Given the description of an element on the screen output the (x, y) to click on. 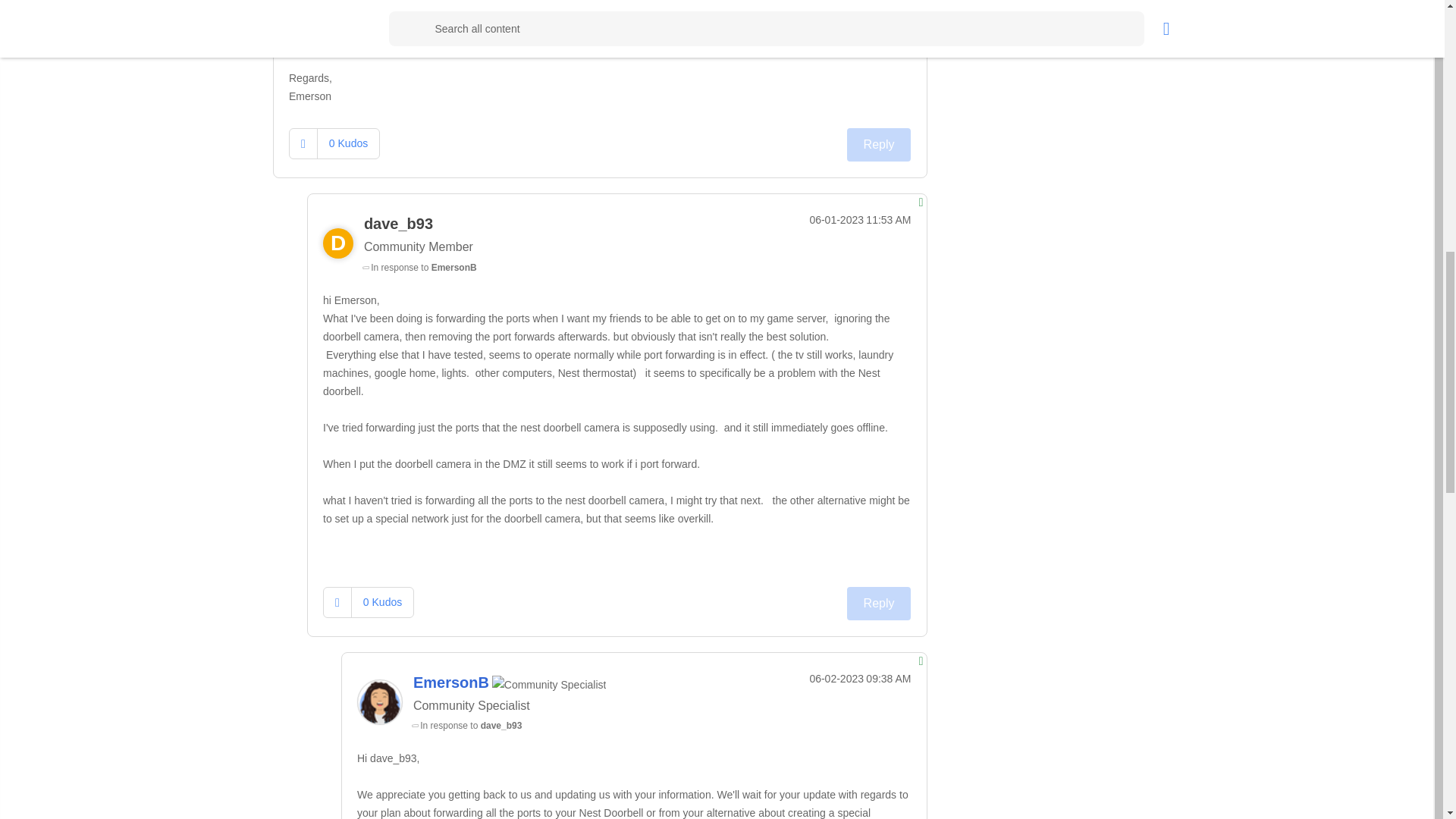
The total number of kudos this post has received. (347, 143)
Click here to give kudos to this post. (303, 143)
